Given the description of an element on the screen output the (x, y) to click on. 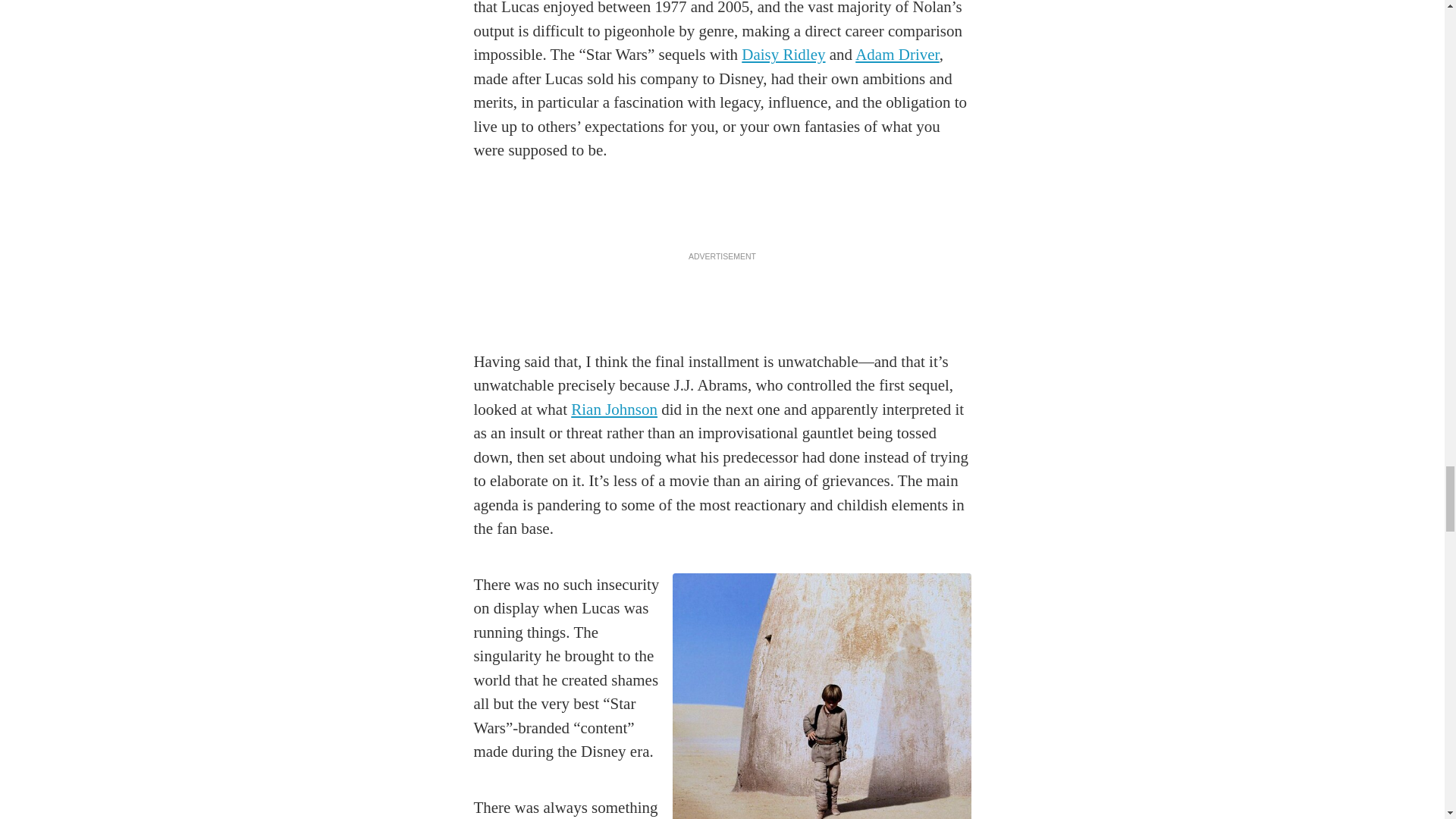
Daisy Ridley (783, 54)
Rian Johnson (614, 409)
Adam Driver (897, 54)
